Given the description of an element on the screen output the (x, y) to click on. 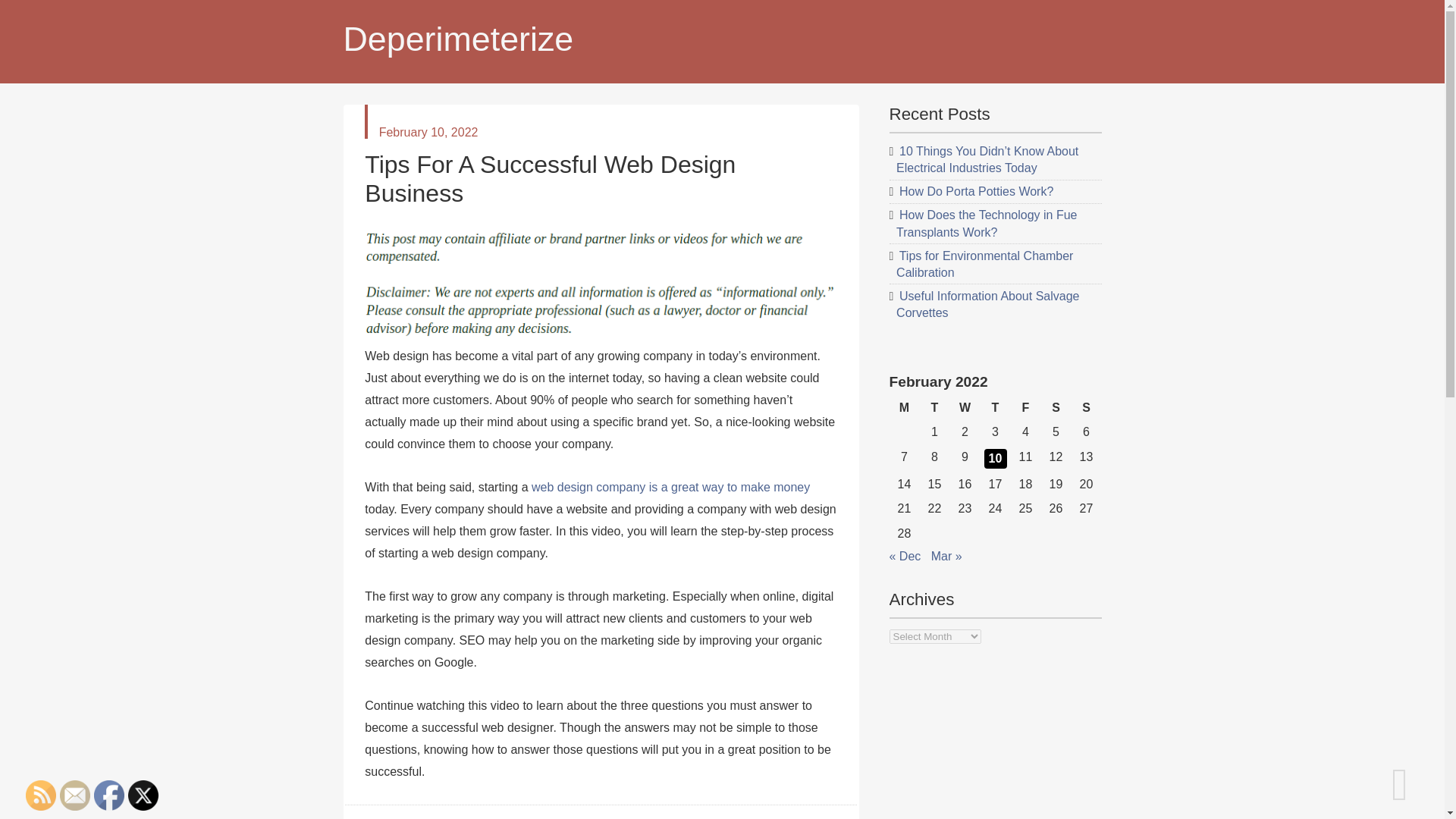
Monday (903, 407)
How Does the Technology in Fue Transplants Work? (986, 223)
Tips for Environmental Chamber Calibration (984, 264)
Deperimeterize (704, 39)
Facebook (108, 795)
How Do Porta Potties Work? (975, 191)
Thursday (994, 407)
RSS (41, 795)
Go Top (1414, 766)
10 (995, 458)
Deperimeterize (704, 39)
Wednesday (964, 407)
Tuesday (933, 407)
web design company is a great way to make money (670, 486)
